Given the description of an element on the screen output the (x, y) to click on. 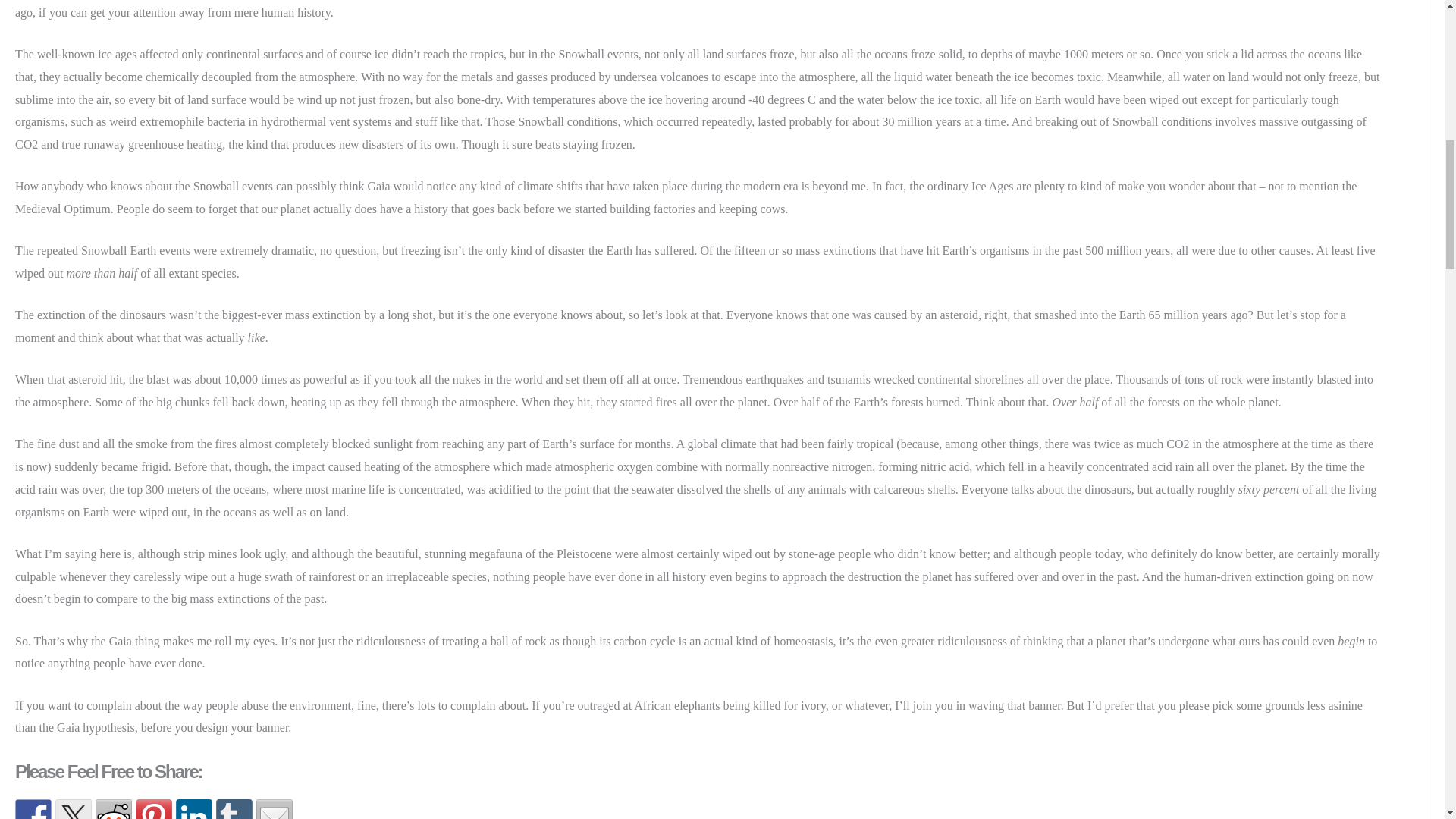
Pin it with Pinterest (153, 809)
Share on Facebook (32, 809)
Share on tumblr (233, 809)
Share on Reddit (114, 809)
Share on Twitter (73, 809)
Share on Linkedin (194, 809)
